Given the description of an element on the screen output the (x, y) to click on. 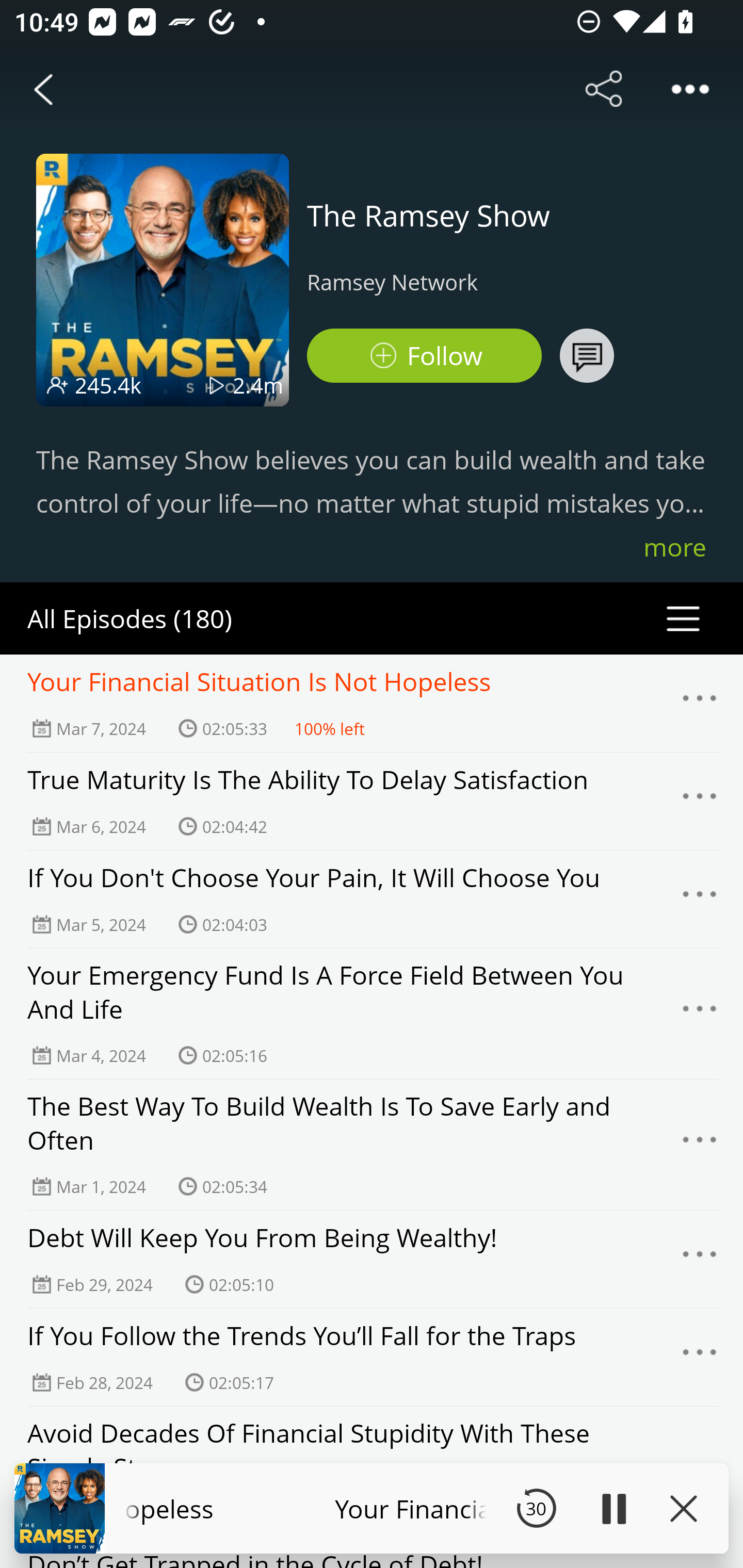
Back (43, 88)
Podbean Follow (423, 355)
245.4k (108, 384)
more (674, 546)
Menu (699, 703)
Menu (699, 801)
Menu (699, 899)
Menu (699, 1013)
Menu (699, 1145)
Menu (699, 1259)
Menu (699, 1356)
Play (613, 1507)
30 Seek Backward (536, 1508)
